Given the description of an element on the screen output the (x, y) to click on. 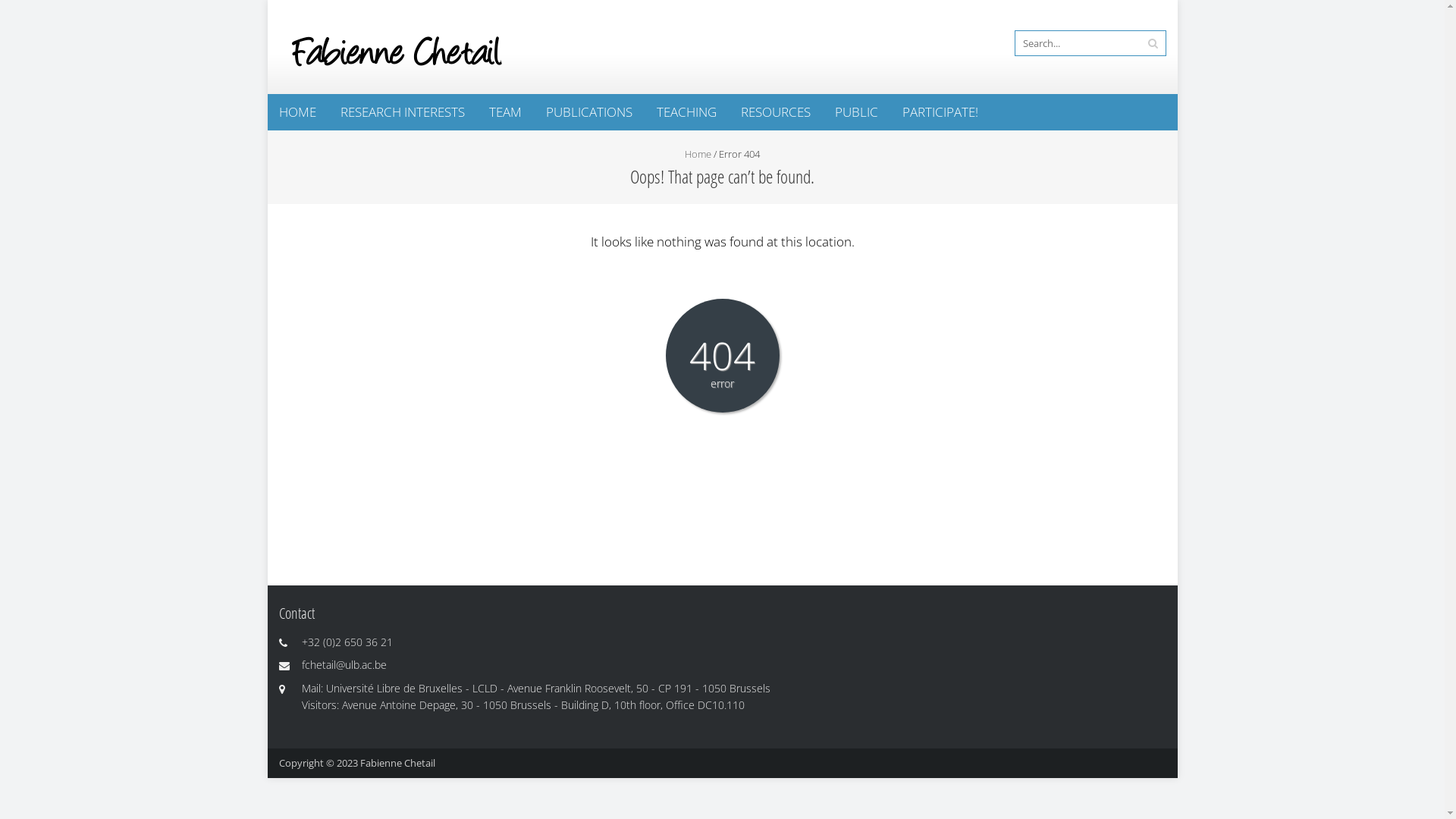
Fabienne Chetail Element type: text (396, 762)
Home Element type: text (697, 153)
PUBLICATIONS Element type: text (588, 112)
TEAM Element type: text (505, 112)
PARTICIPATE! Element type: text (939, 112)
HOME Element type: text (296, 112)
RESEARCH INTERESTS Element type: text (402, 112)
TEACHING Element type: text (685, 112)
RESOURCES Element type: text (775, 112)
PUBLIC Element type: text (856, 112)
